Given the description of an element on the screen output the (x, y) to click on. 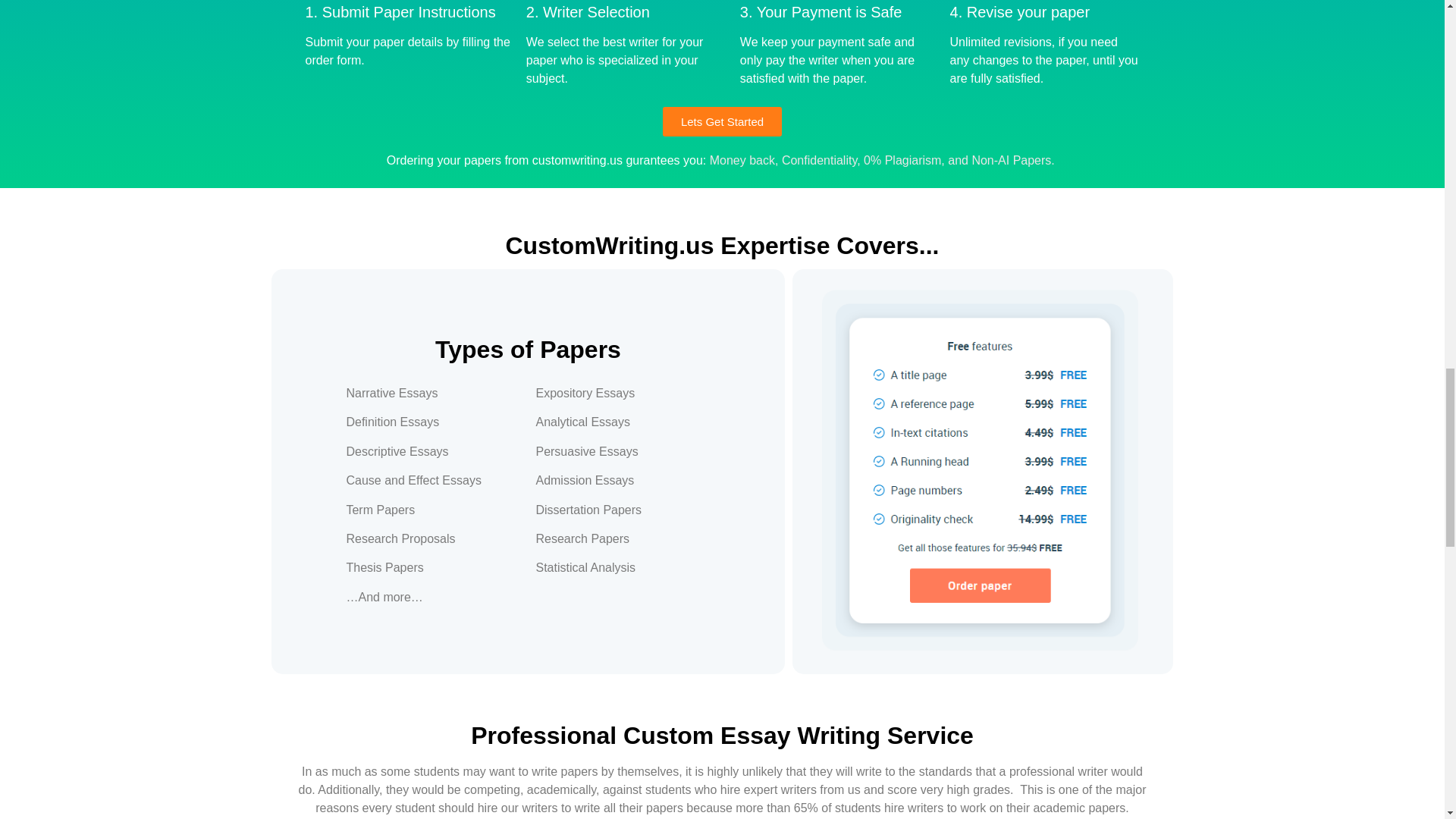
Money back (742, 160)
Confidentiality (819, 160)
Lets Get Started (721, 121)
